Given the description of an element on the screen output the (x, y) to click on. 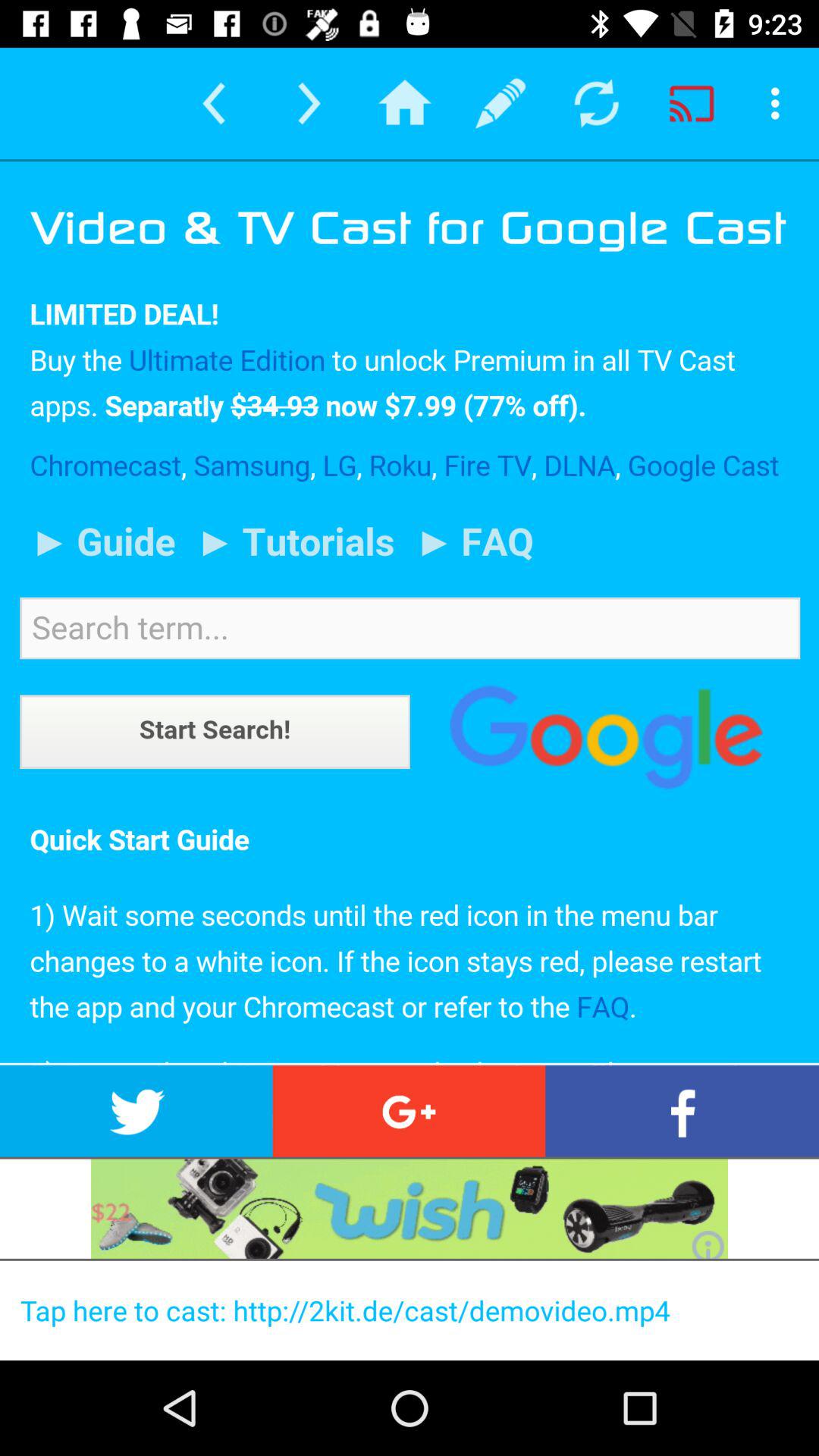
advertisement option (409, 1208)
